Given the description of an element on the screen output the (x, y) to click on. 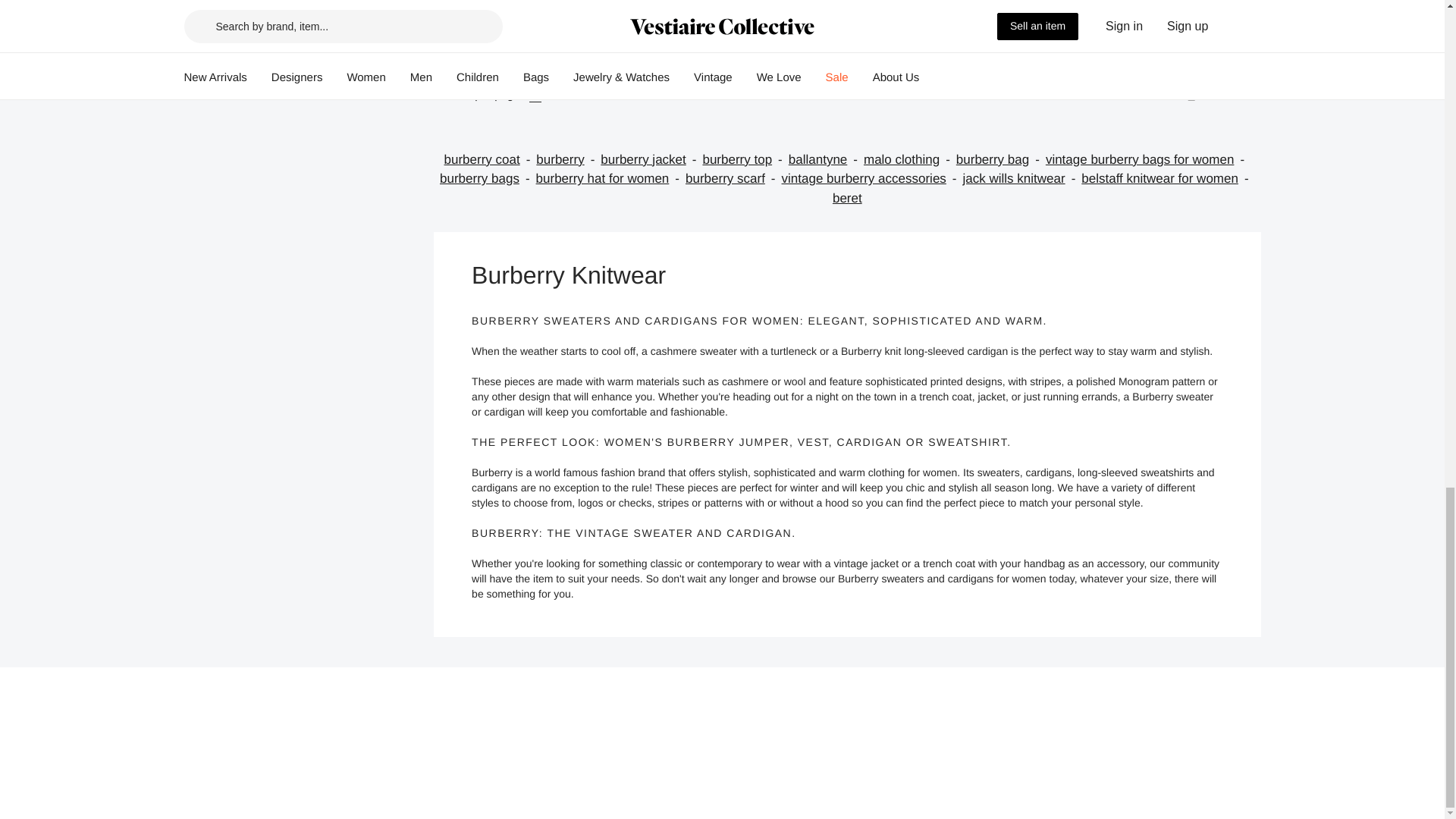
Next (1226, 95)
96 (556, 95)
burberry coat (490, 159)
48 (535, 95)
burberry (567, 159)
Previous (1145, 95)
